Given the description of an element on the screen output the (x, y) to click on. 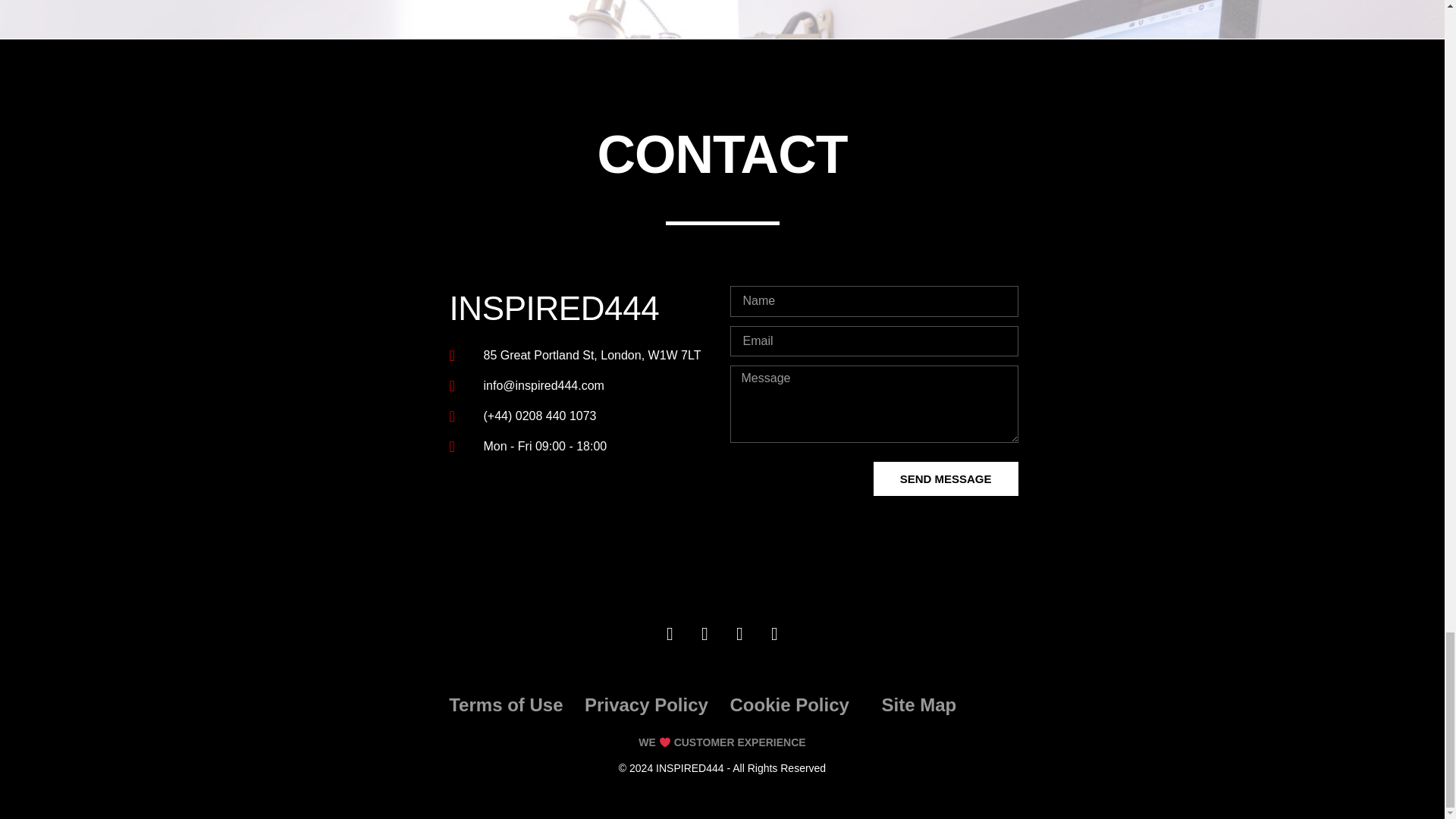
Cookie Policy (788, 704)
Site Map (918, 704)
Terms of Use (505, 704)
Privacy Policy (646, 704)
WE CUSTOMER EXPERIENCE (722, 742)
SEND MESSAGE (945, 478)
